Given the description of an element on the screen output the (x, y) to click on. 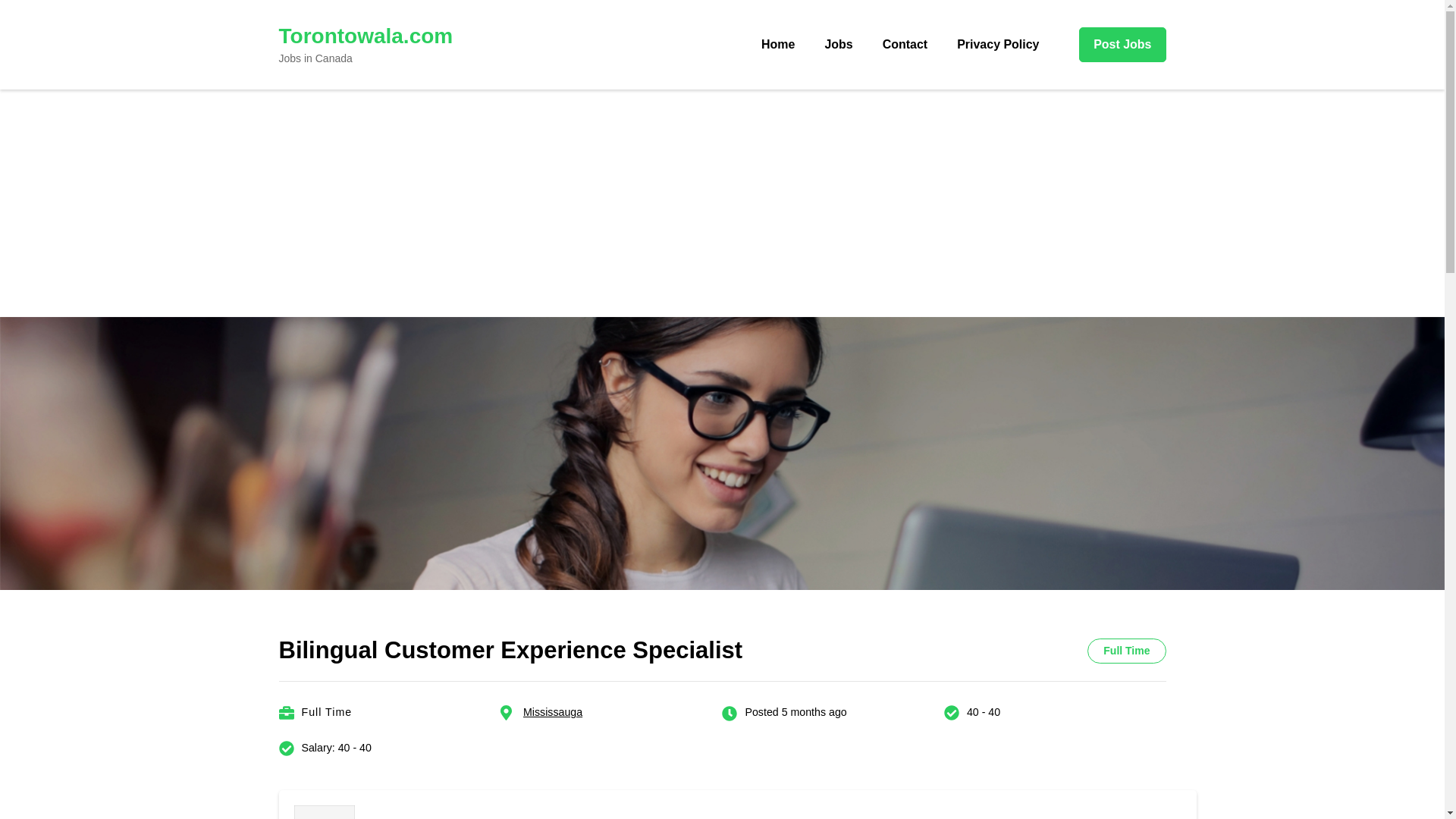
Privacy Policy (997, 44)
Post Jobs (1122, 44)
Home (778, 44)
Torontowala.com (365, 35)
Mississauga (552, 711)
Contact (904, 44)
Jobs (837, 44)
